Given the description of an element on the screen output the (x, y) to click on. 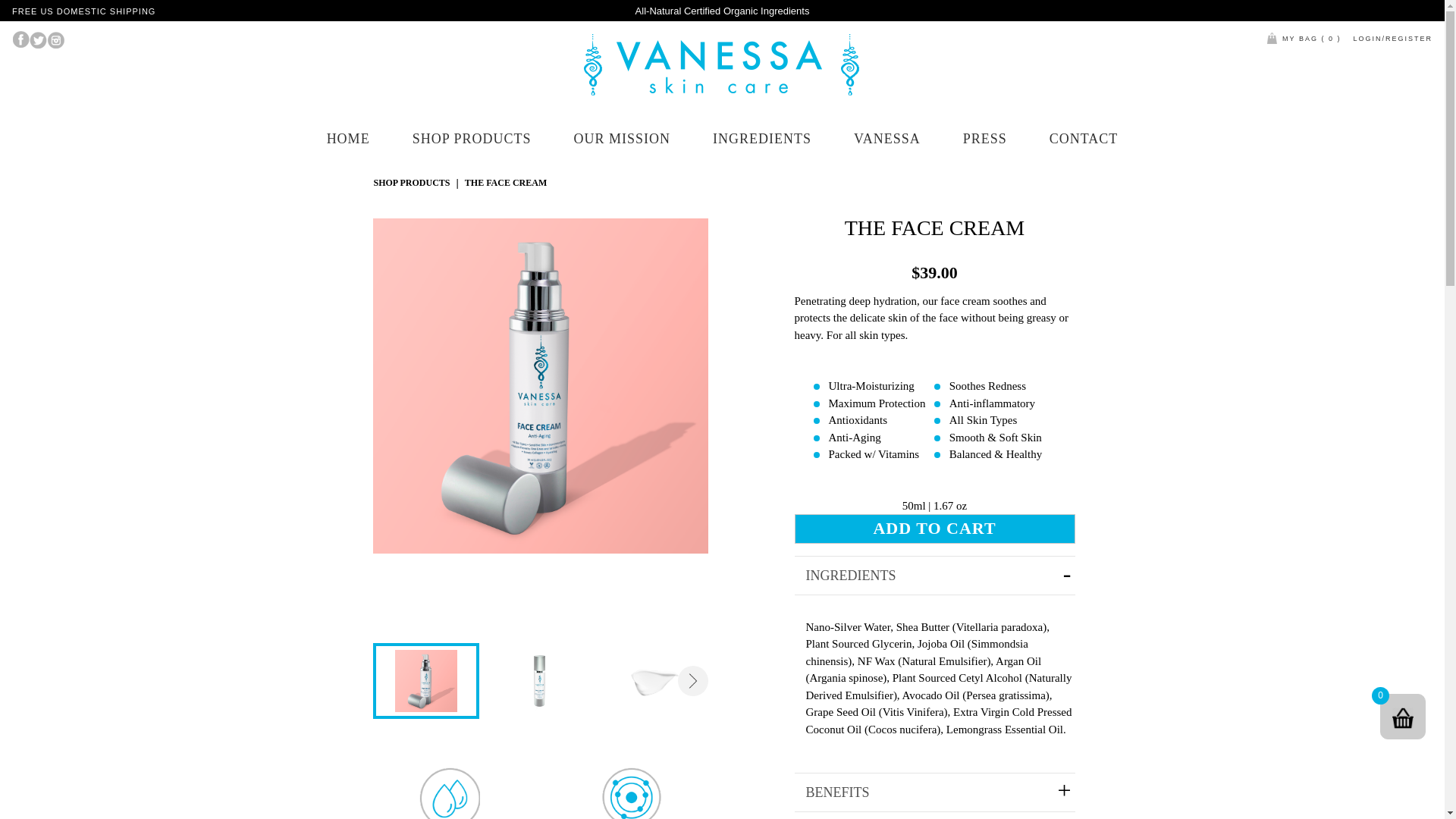
ADD TO CART (934, 528)
CONTACT (1083, 138)
HOME (347, 138)
Next (692, 680)
VANESSA (886, 138)
OUR MISSION (622, 138)
INGREDIENTS (761, 138)
THE FACE CREAM (505, 182)
SHOP PRODUCTS (471, 138)
SHOP PRODUCTS (410, 182)
PRESS (984, 138)
BENEFITS (934, 792)
INGREDIENTS (934, 575)
